Given the description of an element on the screen output the (x, y) to click on. 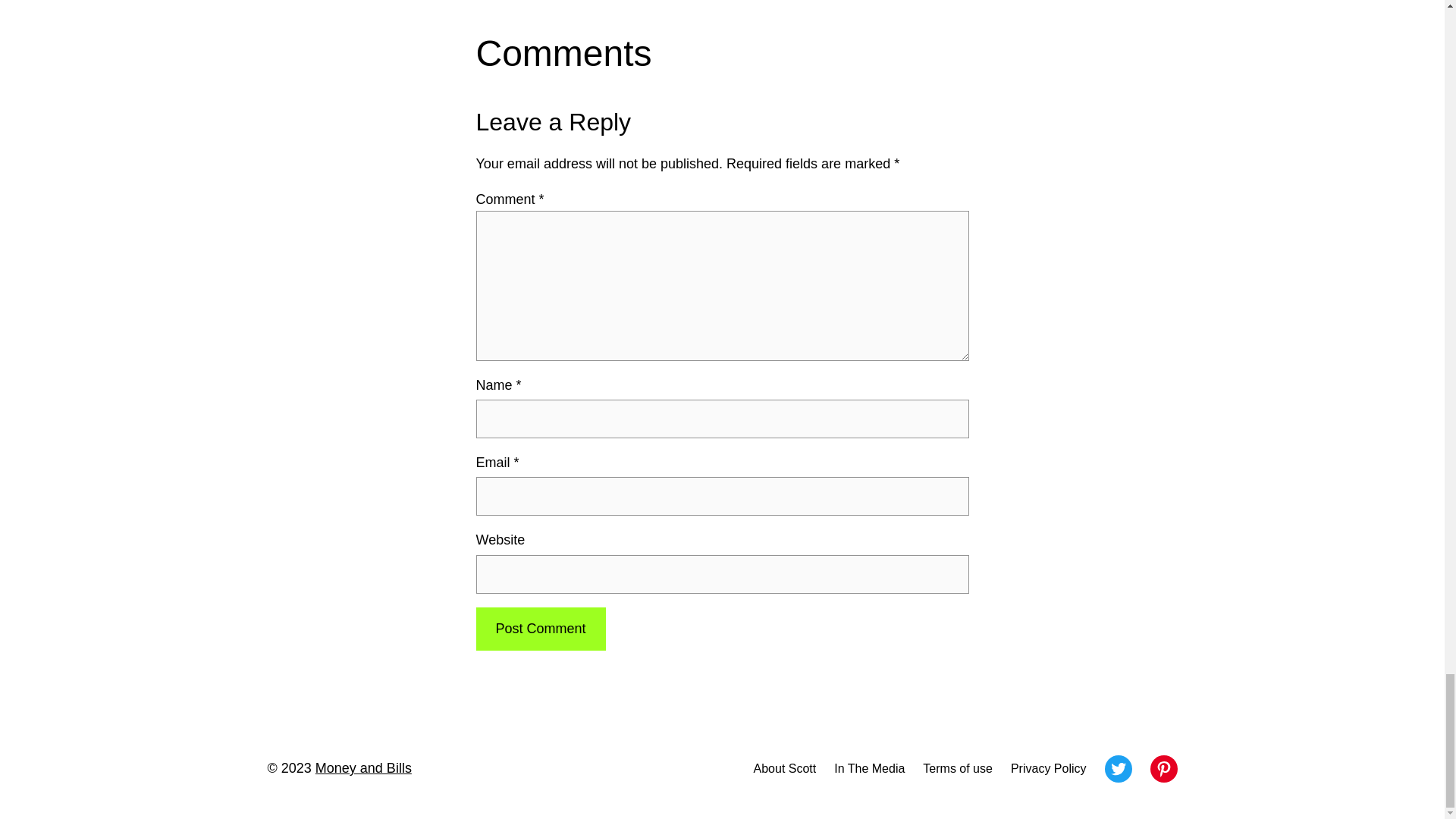
Twitter (1117, 768)
Post Comment (540, 628)
About Scott (785, 768)
Post Comment (540, 628)
In The Media (869, 768)
Privacy Policy (1048, 768)
Terms of use (957, 768)
Money and Bills (363, 767)
